Given the description of an element on the screen output the (x, y) to click on. 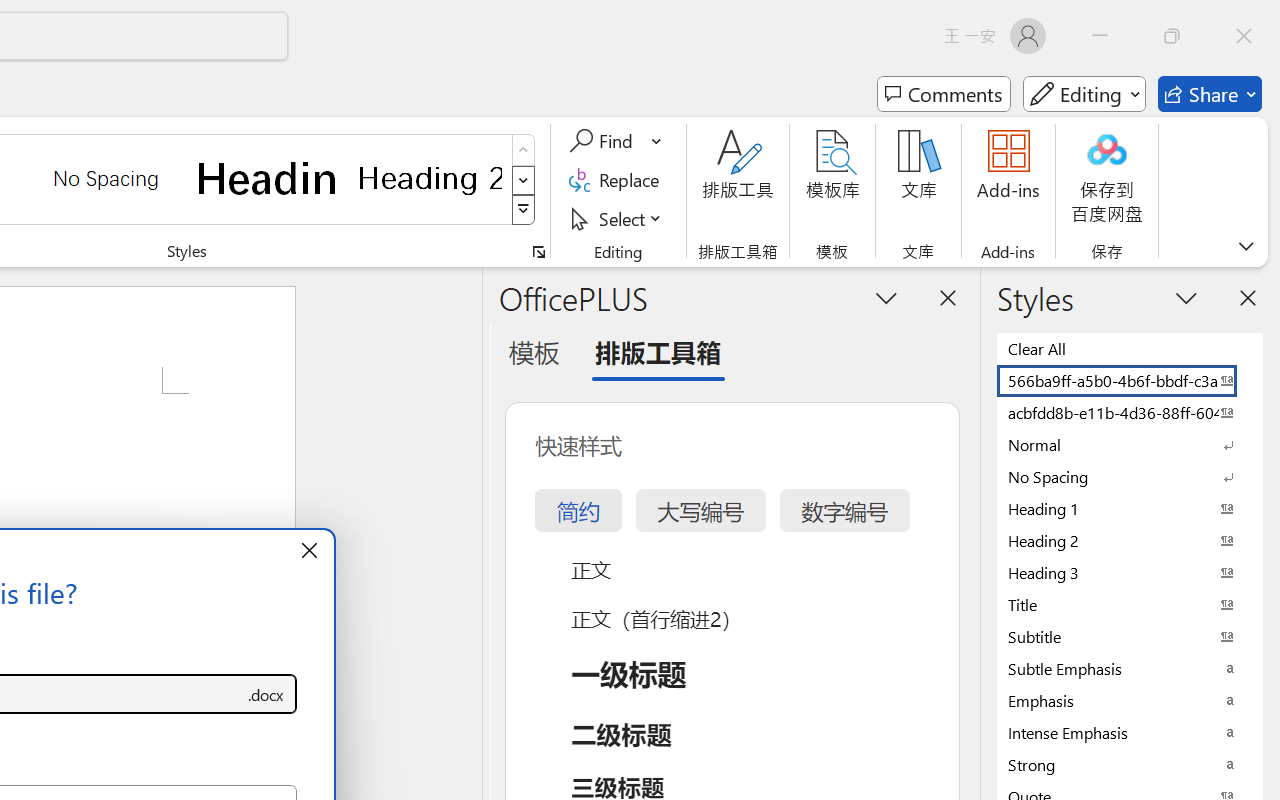
Heading 3 (1130, 572)
Save as type (265, 694)
Heading 2 (429, 178)
Replace... (617, 179)
Select (618, 218)
Find (604, 141)
Minimize (1099, 36)
